Given the description of an element on the screen output the (x, y) to click on. 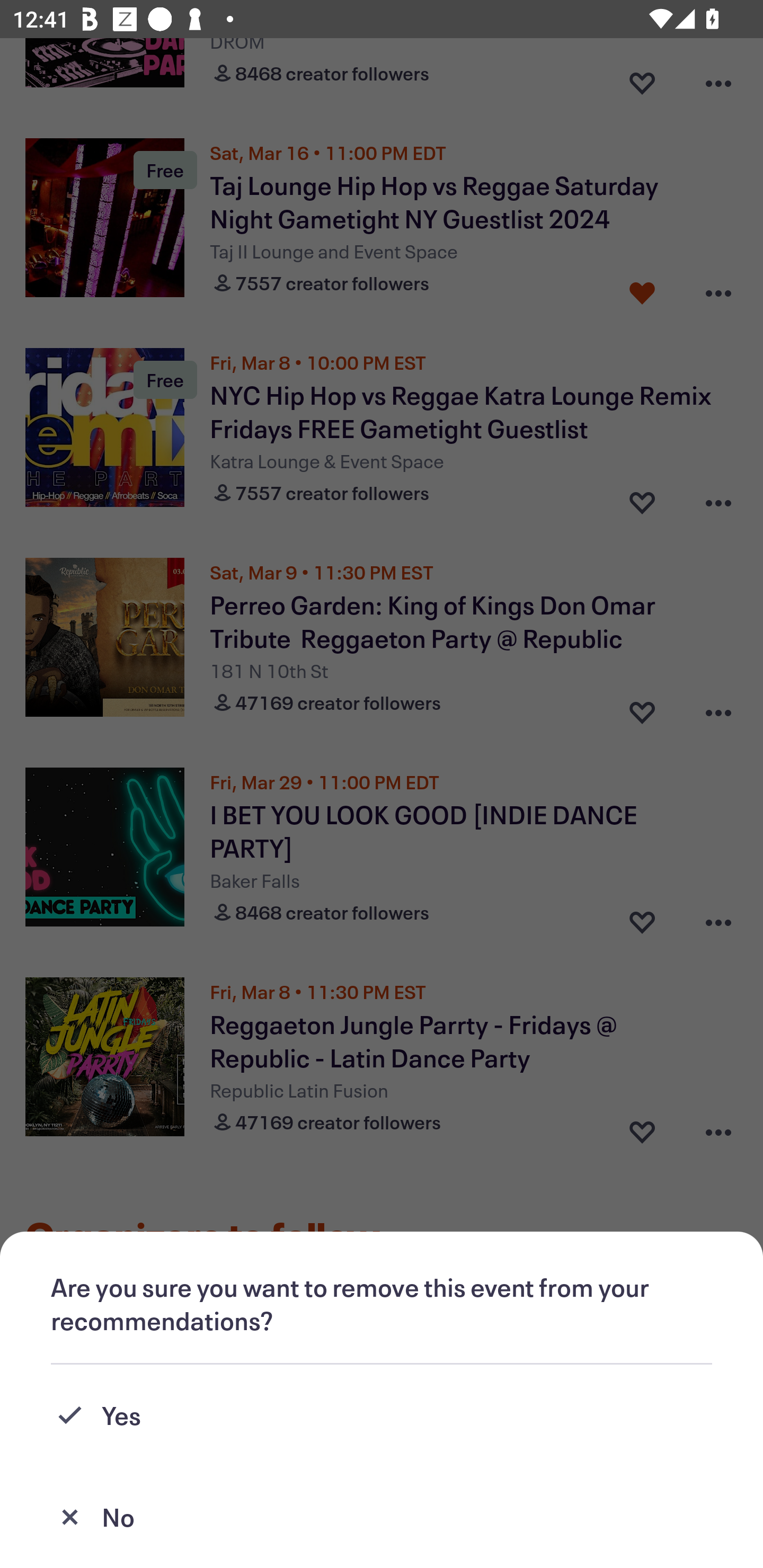
Yes (381, 1415)
No (381, 1517)
